Given the description of an element on the screen output the (x, y) to click on. 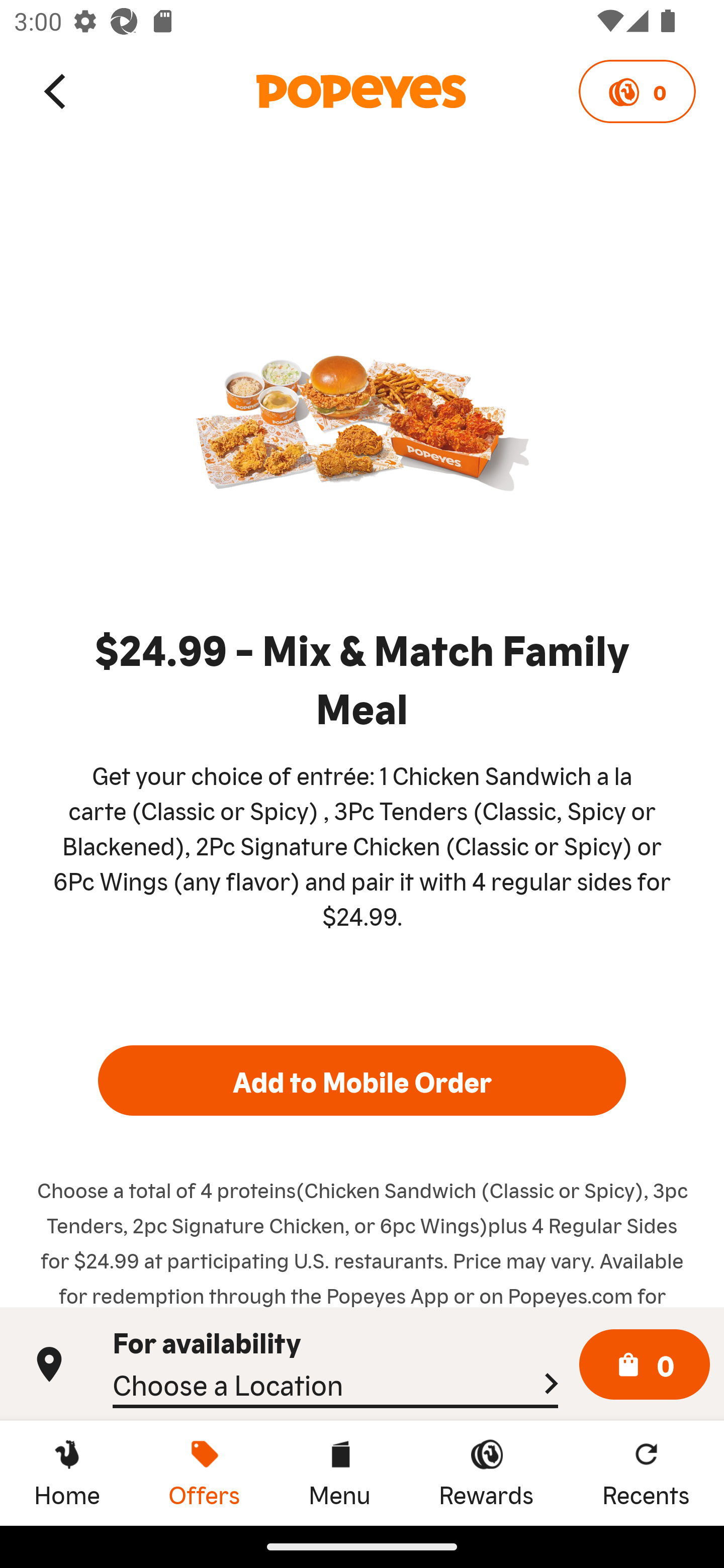
Back (56, 90)
0 Points 0 (636, 91)
Add to Mobile Order (361, 1080)
0 Cart total  0 (644, 1364)
Home Home Home (66, 1472)
Offers, current page Offers Offers, current page (203, 1472)
Menu Menu Menu (339, 1472)
Rewards Rewards Rewards (486, 1472)
Recents Recents Recents (646, 1472)
